Given the description of an element on the screen output the (x, y) to click on. 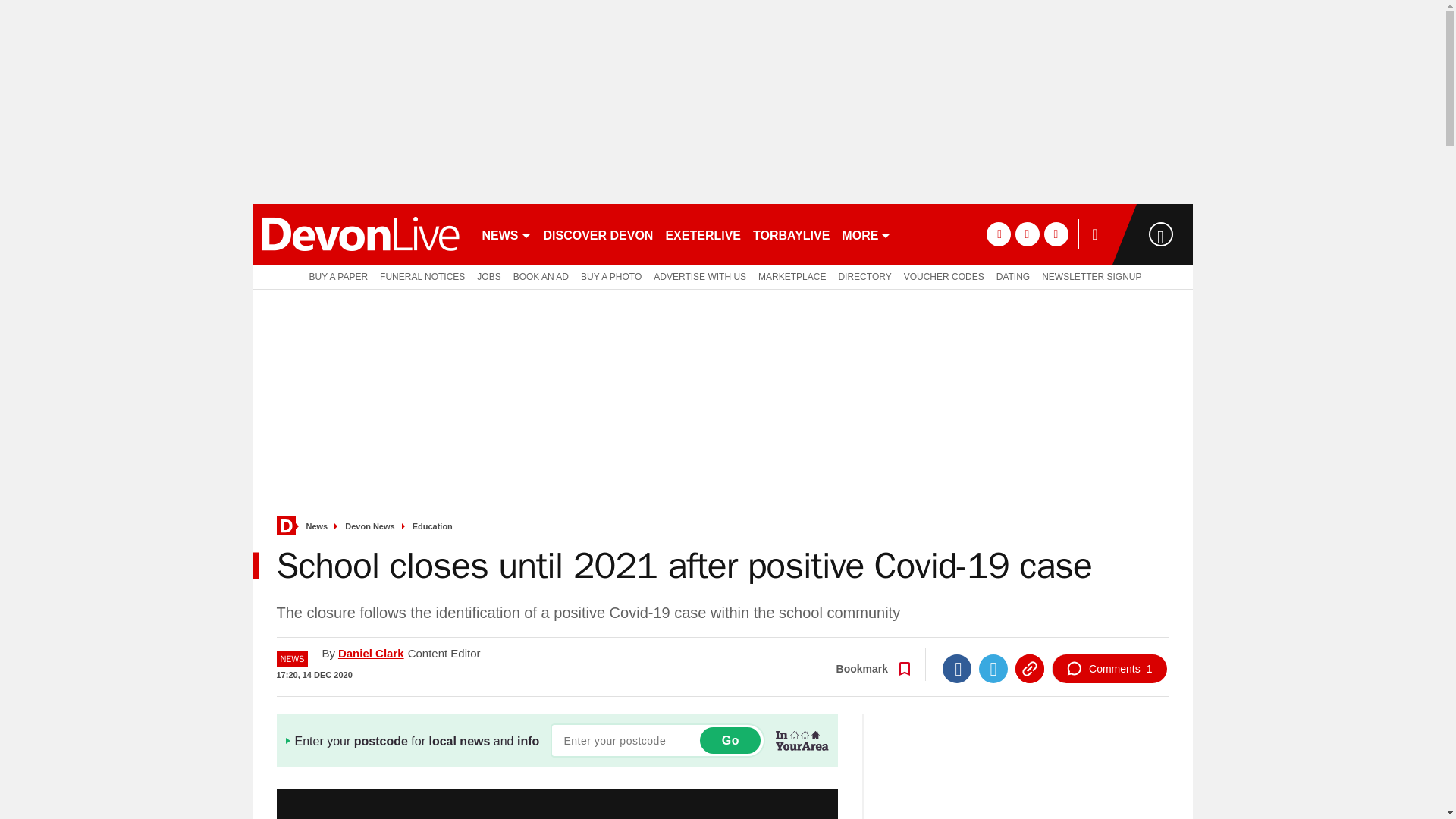
Twitter (992, 668)
TORBAYLIVE (790, 233)
EXETERLIVE (702, 233)
instagram (1055, 233)
NEWS (506, 233)
facebook (997, 233)
MORE (865, 233)
DISCOVER DEVON (598, 233)
twitter (1026, 233)
Go (730, 740)
